Given the description of an element on the screen output the (x, y) to click on. 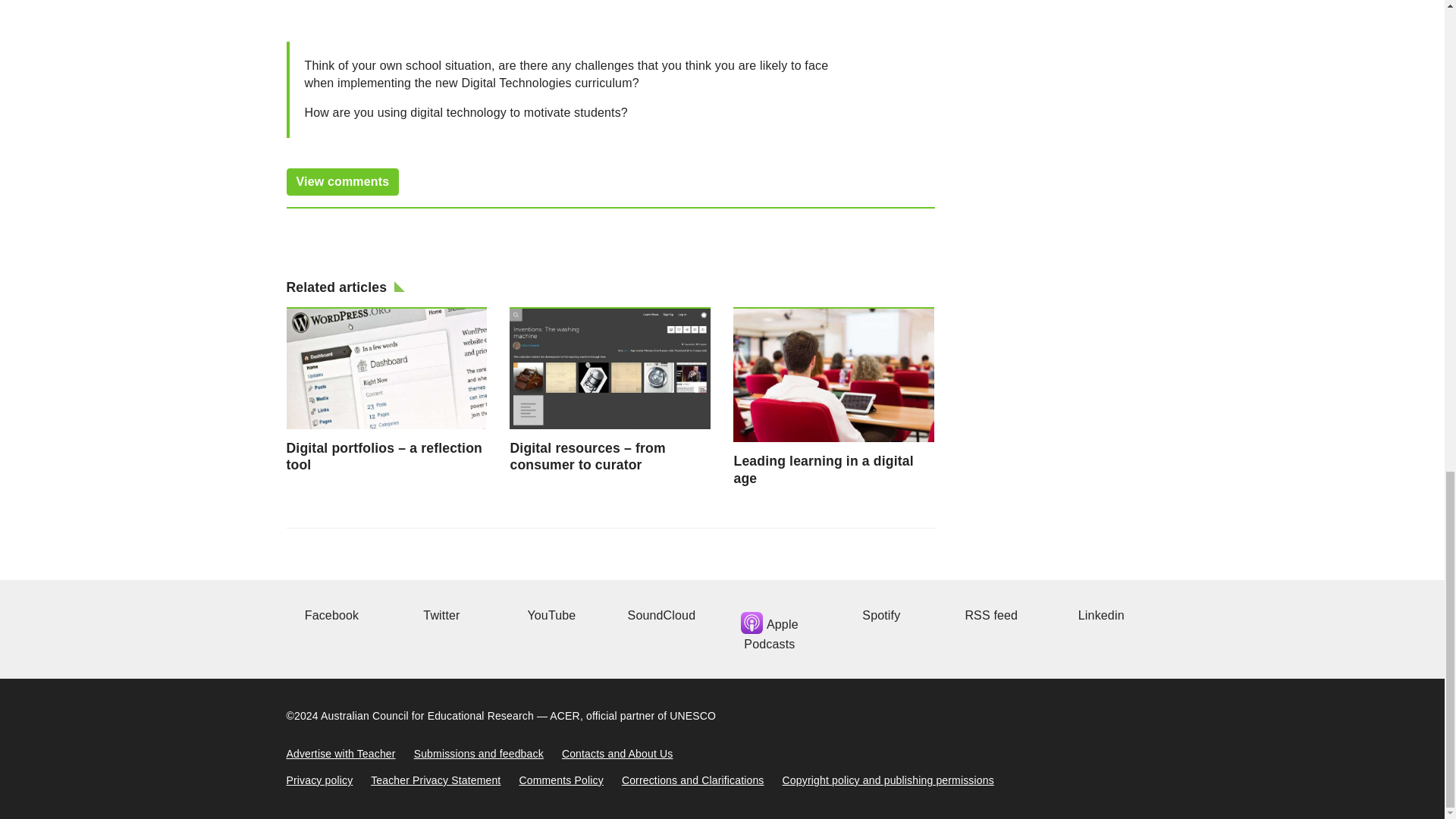
View comments (342, 182)
Teacher on Facebook (330, 615)
Teacher on Twitter (439, 615)
Teacher on SoundCloud (659, 615)
Teacher on Spotify (879, 615)
Leading learning in a digital age (833, 396)
Teacher on YouTube (548, 615)
Teacher RSS (988, 615)
Australian Council for Educational Research (427, 715)
Teacher Linkedin (1099, 615)
